Given the description of an element on the screen output the (x, y) to click on. 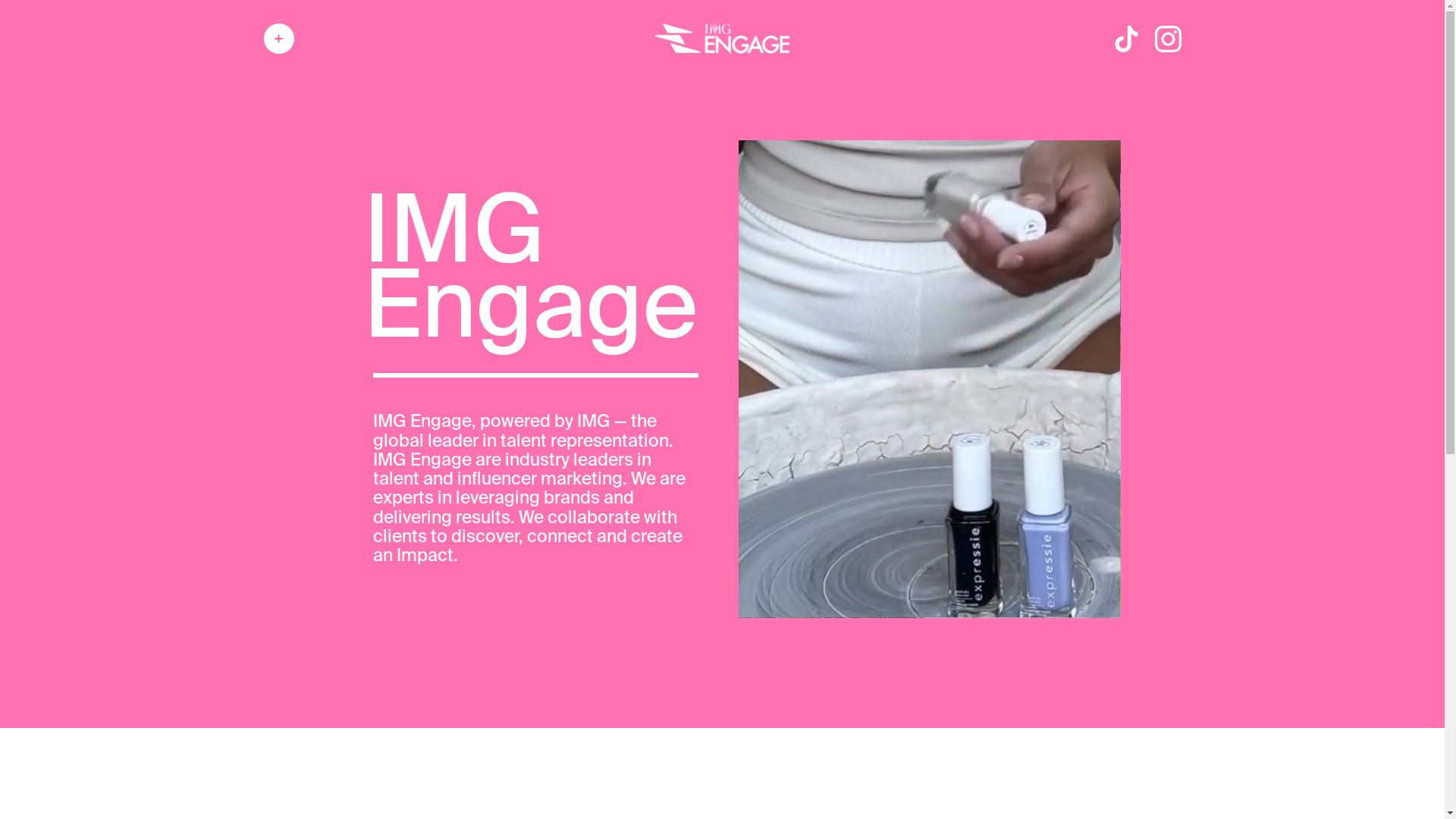
+ Element type: text (278, 38)
